Given the description of an element on the screen output the (x, y) to click on. 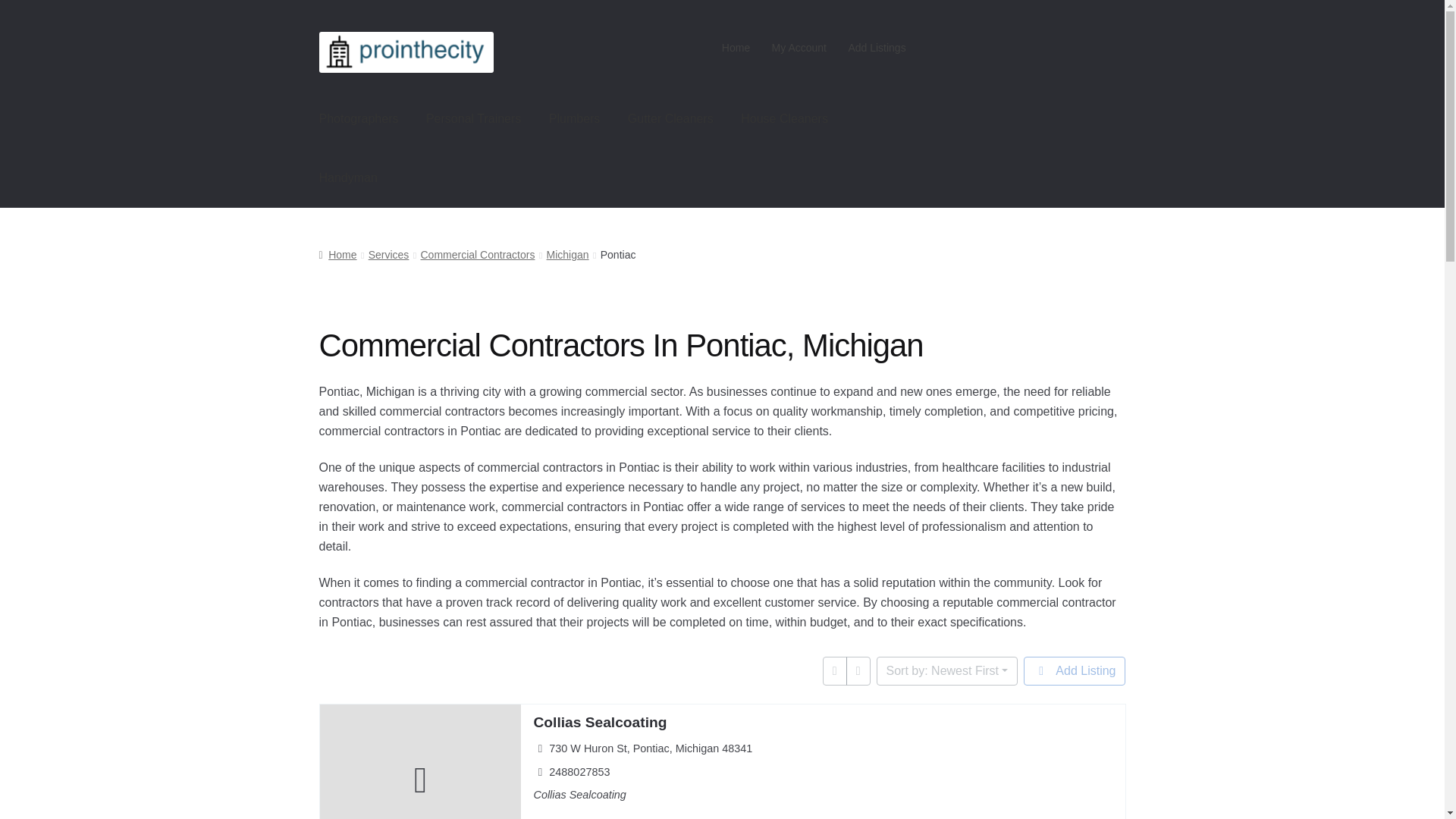
Michigan (568, 254)
Home (736, 47)
Gutter Cleaners (670, 118)
Personal Trainers (472, 118)
Commercial Contractors (477, 254)
Add Listings (876, 47)
Photographers (358, 118)
Home (337, 254)
Handyman (348, 178)
Add Listing (1074, 670)
Plumbers (574, 118)
Collias Sealcoating (599, 722)
Services (388, 254)
Sort by: Newest First (946, 670)
